Given the description of an element on the screen output the (x, y) to click on. 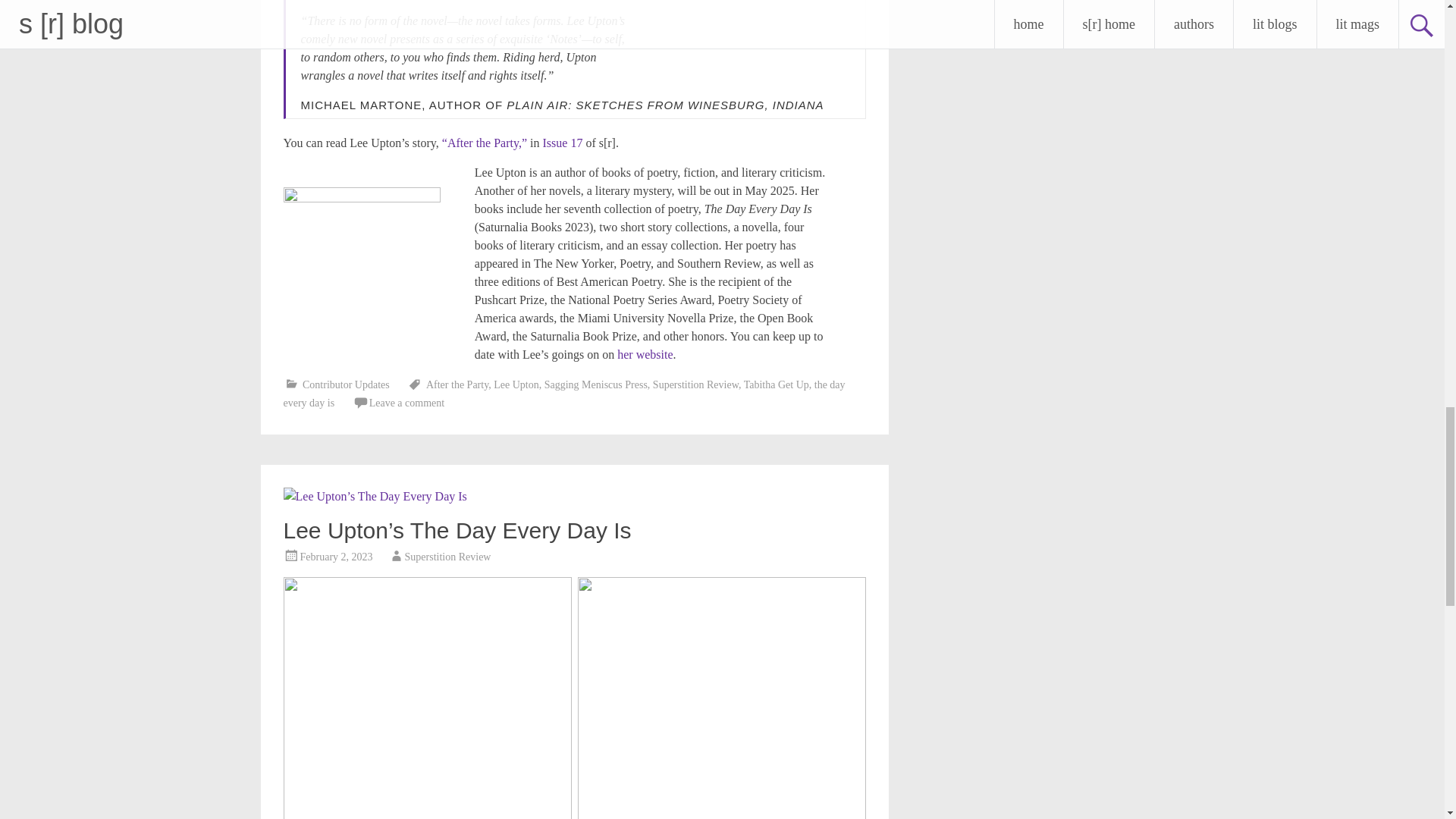
Sagging Meniscus Press (595, 384)
Lee Upton (515, 384)
Superstition Review (695, 384)
her website (644, 354)
Leave a comment (407, 402)
Tabitha Get Up (776, 384)
February 2, 2023 (335, 556)
Contributor Updates (346, 384)
the day every day is (564, 393)
Superstition Review (448, 556)
